Given the description of an element on the screen output the (x, y) to click on. 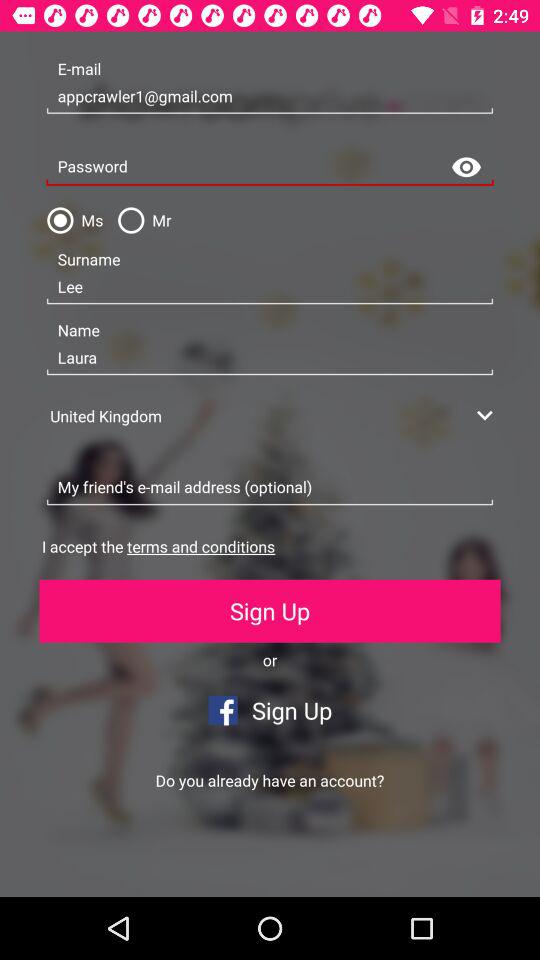
password enter option (270, 167)
